Given the description of an element on the screen output the (x, y) to click on. 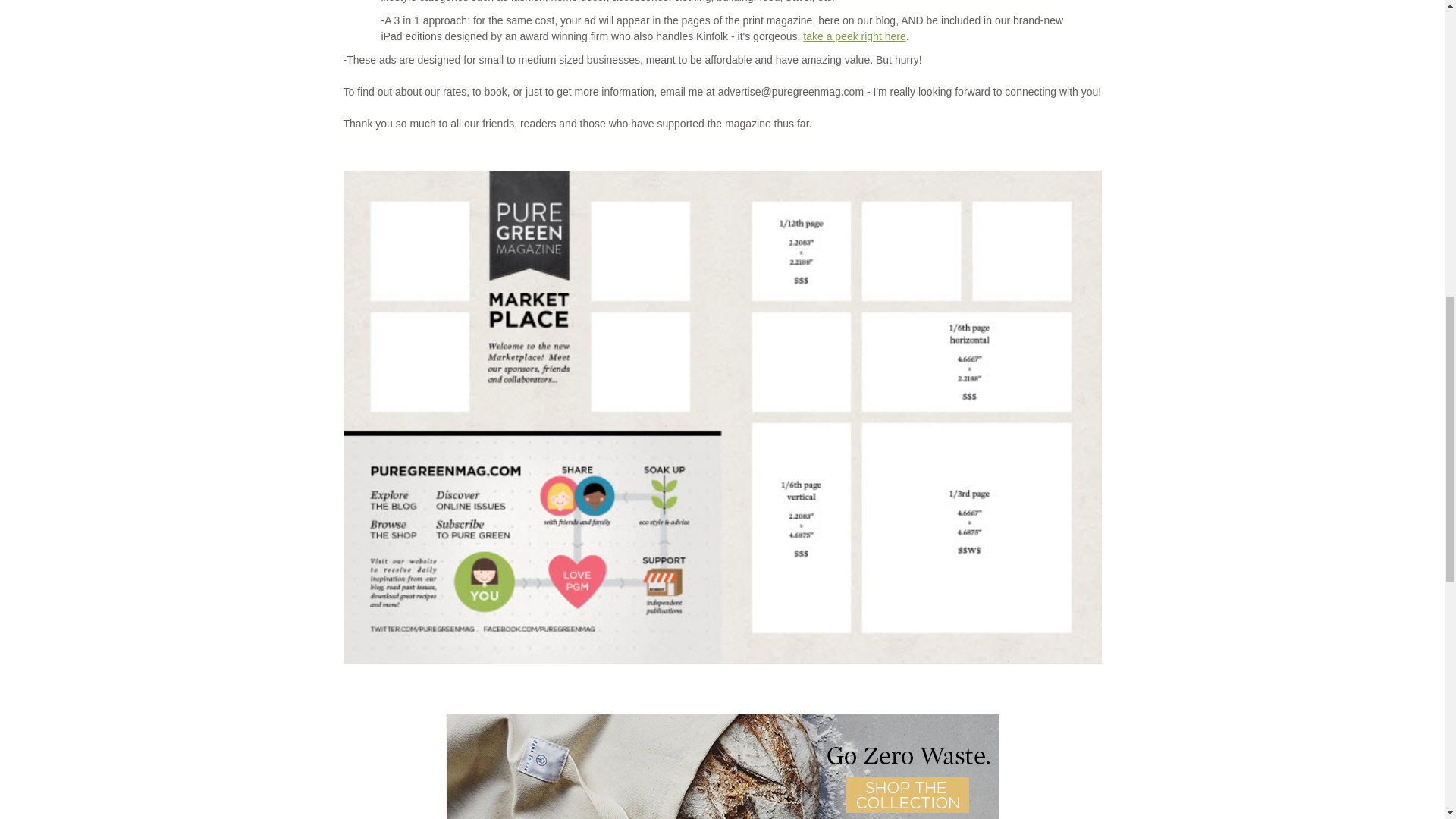
take a peek right here (854, 36)
